Given the description of an element on the screen output the (x, y) to click on. 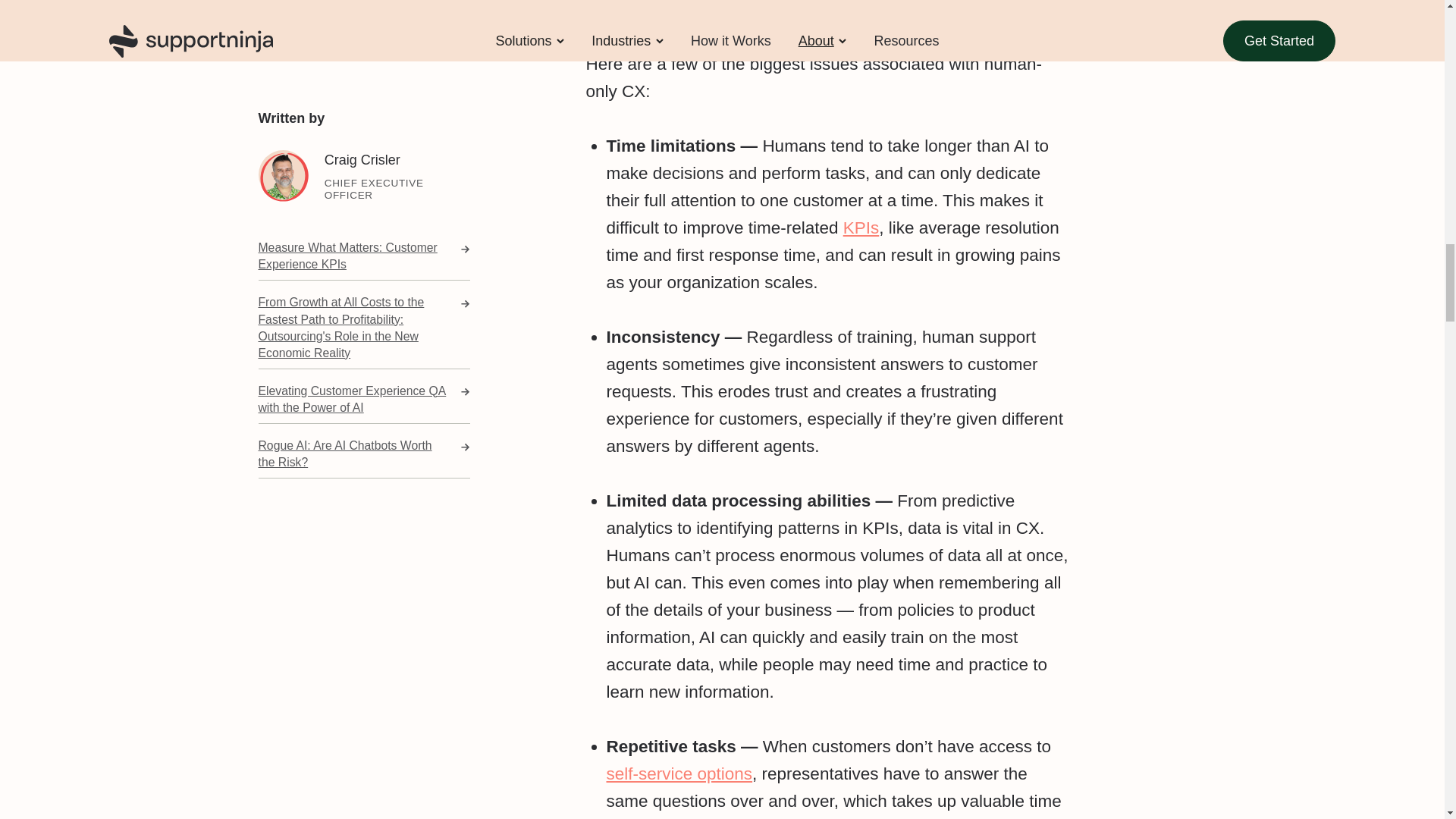
self-service options (679, 773)
KPIs (861, 227)
